Given the description of an element on the screen output the (x, y) to click on. 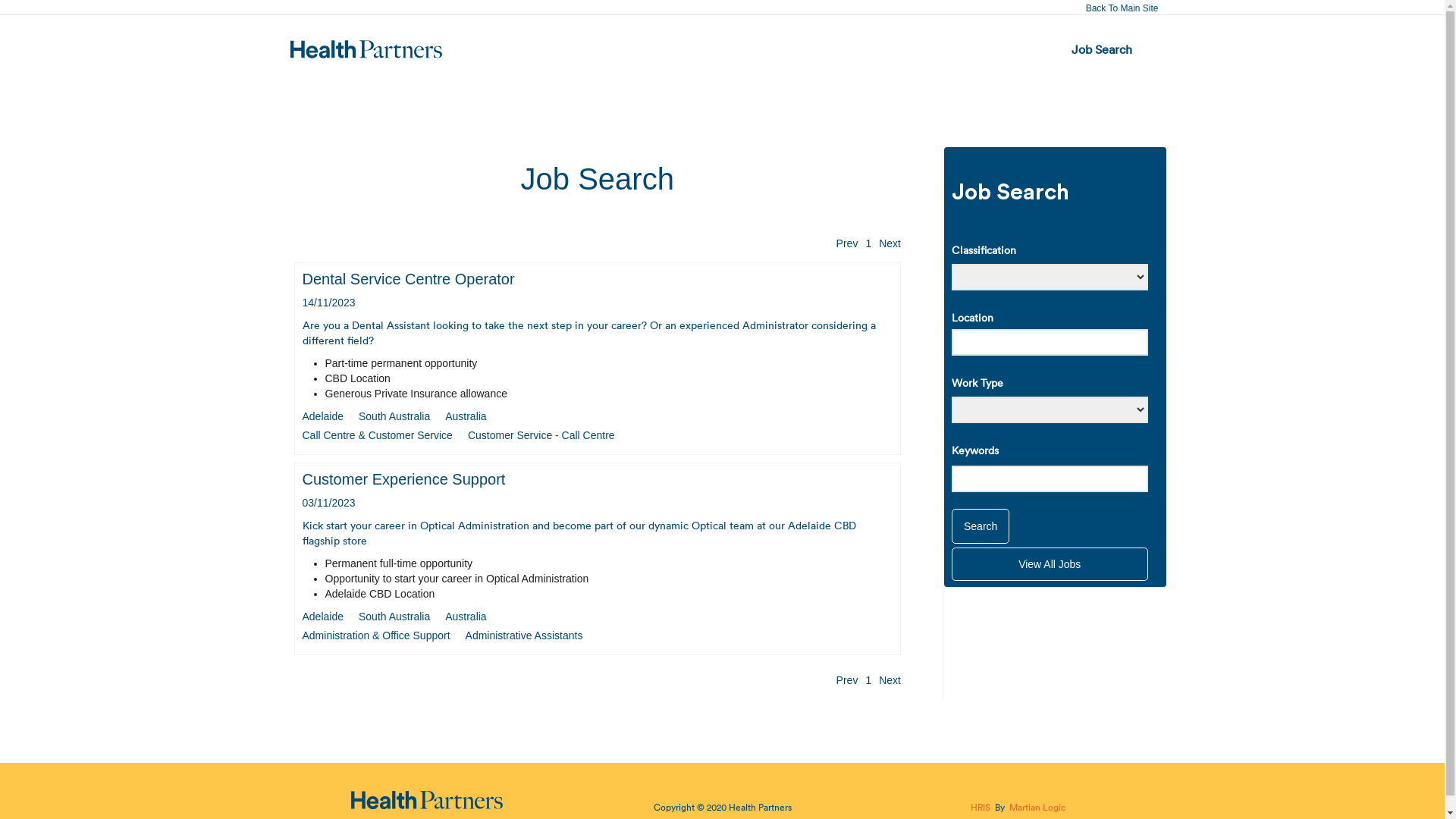
Back To Main Site Element type: text (1121, 8)
Administration & Office Support Element type: text (375, 635)
Dental Service Centre Operator Element type: text (407, 278)
Martian Logic Element type: text (1037, 806)
South Australia Element type: text (393, 616)
Job Search Element type: text (1101, 49)
Australia Element type: text (465, 616)
Adelaide Element type: text (322, 416)
Customer Experience Support Element type: text (403, 478)
HRIS Element type: text (980, 806)
Call Centre & Customer Service Element type: text (376, 435)
Adelaide Element type: text (322, 616)
Customer Service - Call Centre Element type: text (541, 435)
Administrative Assistants Element type: text (524, 635)
Health Partners Element type: text (759, 806)
South Australia Element type: text (393, 416)
Australia Element type: text (465, 416)
